Given the description of an element on the screen output the (x, y) to click on. 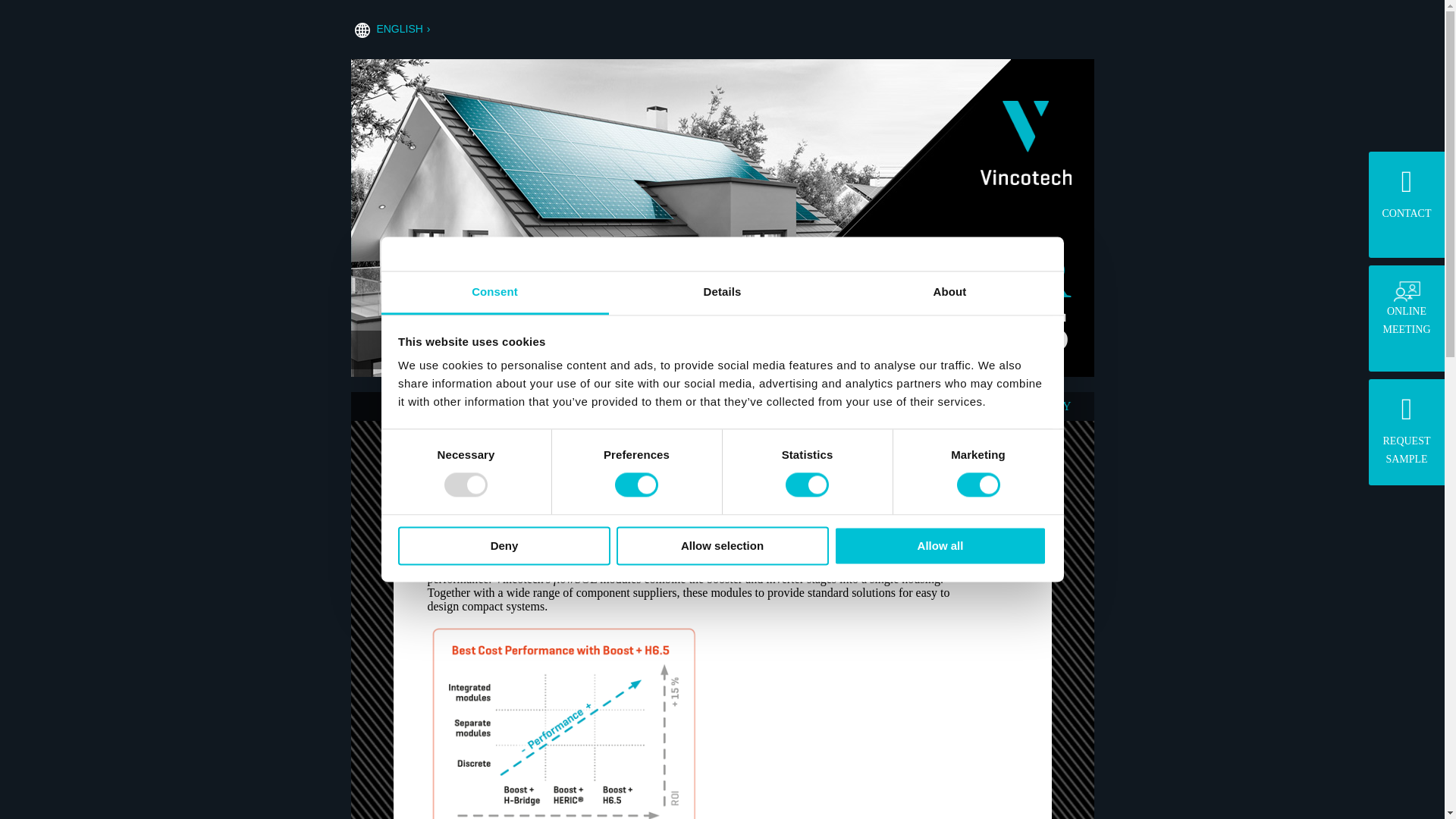
About (948, 292)
Details (721, 292)
Deny (503, 545)
CONTACT (1406, 193)
Allow selection (1406, 307)
ENGLISH (721, 545)
Consent (398, 28)
Allow all (494, 292)
